Given the description of an element on the screen output the (x, y) to click on. 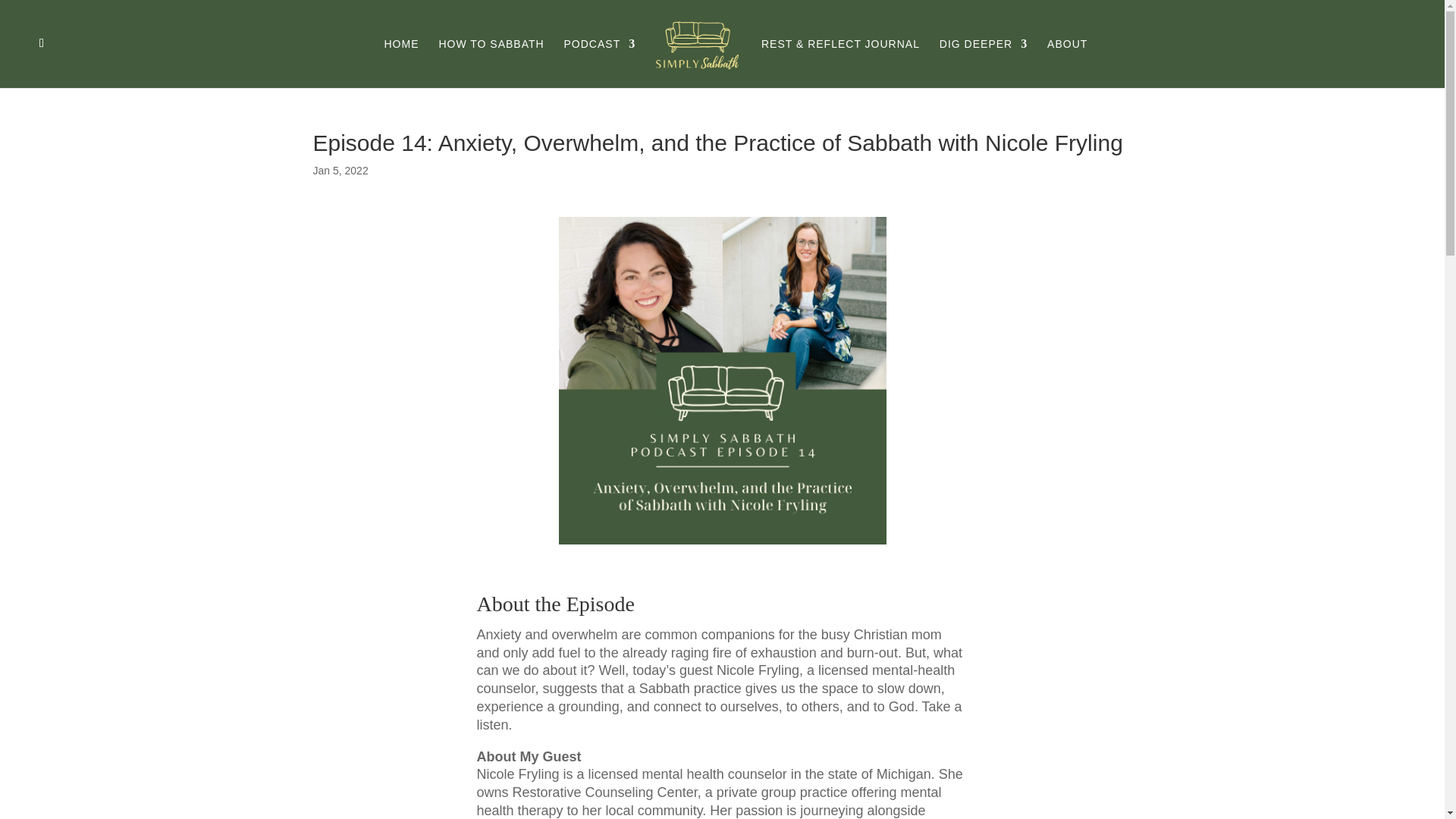
HOW TO SABBATH (490, 62)
PODCAST (600, 62)
DIG DEEPER (983, 62)
